Given the description of an element on the screen output the (x, y) to click on. 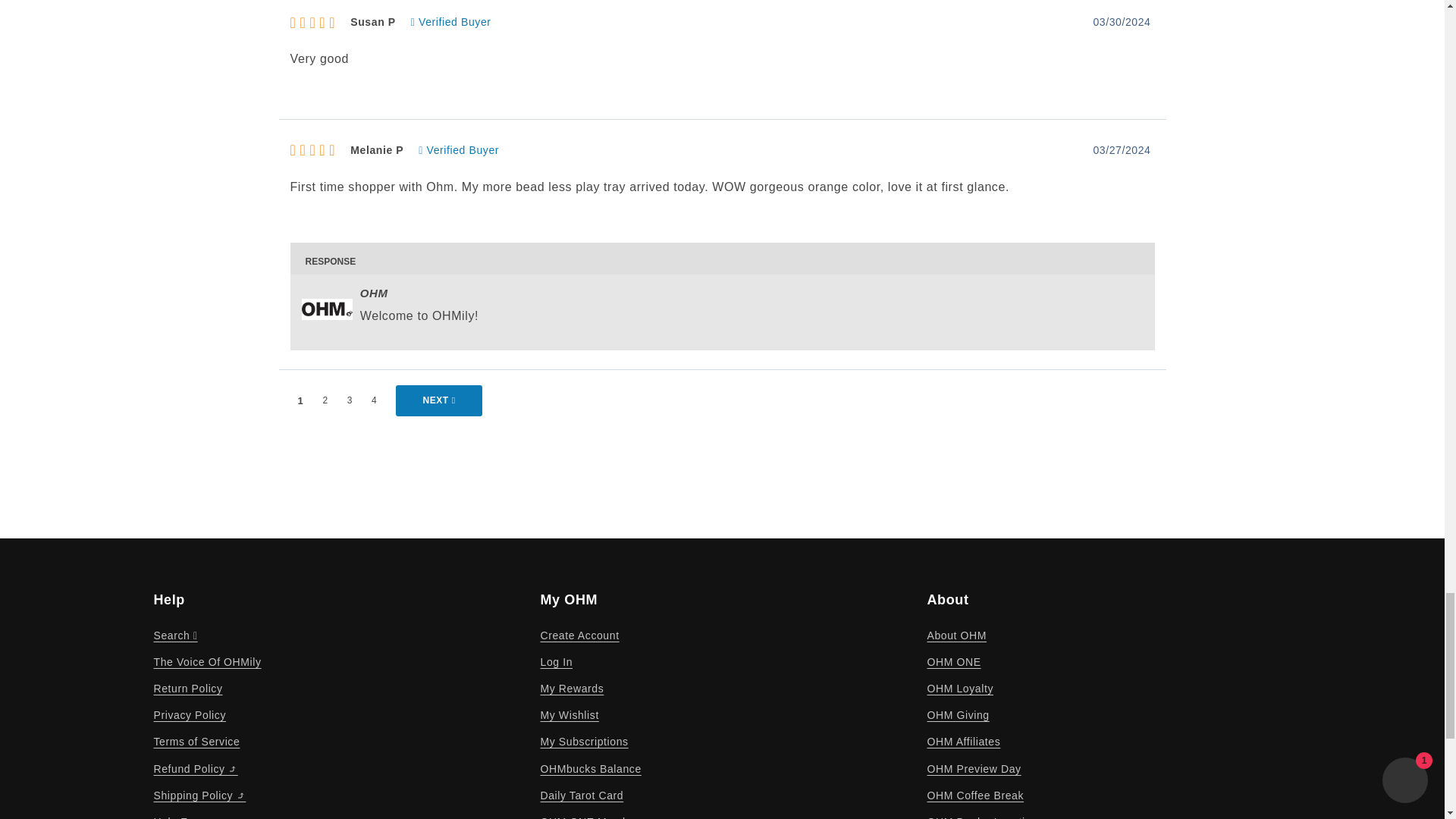
Next page (438, 400)
